Given the description of an element on the screen output the (x, y) to click on. 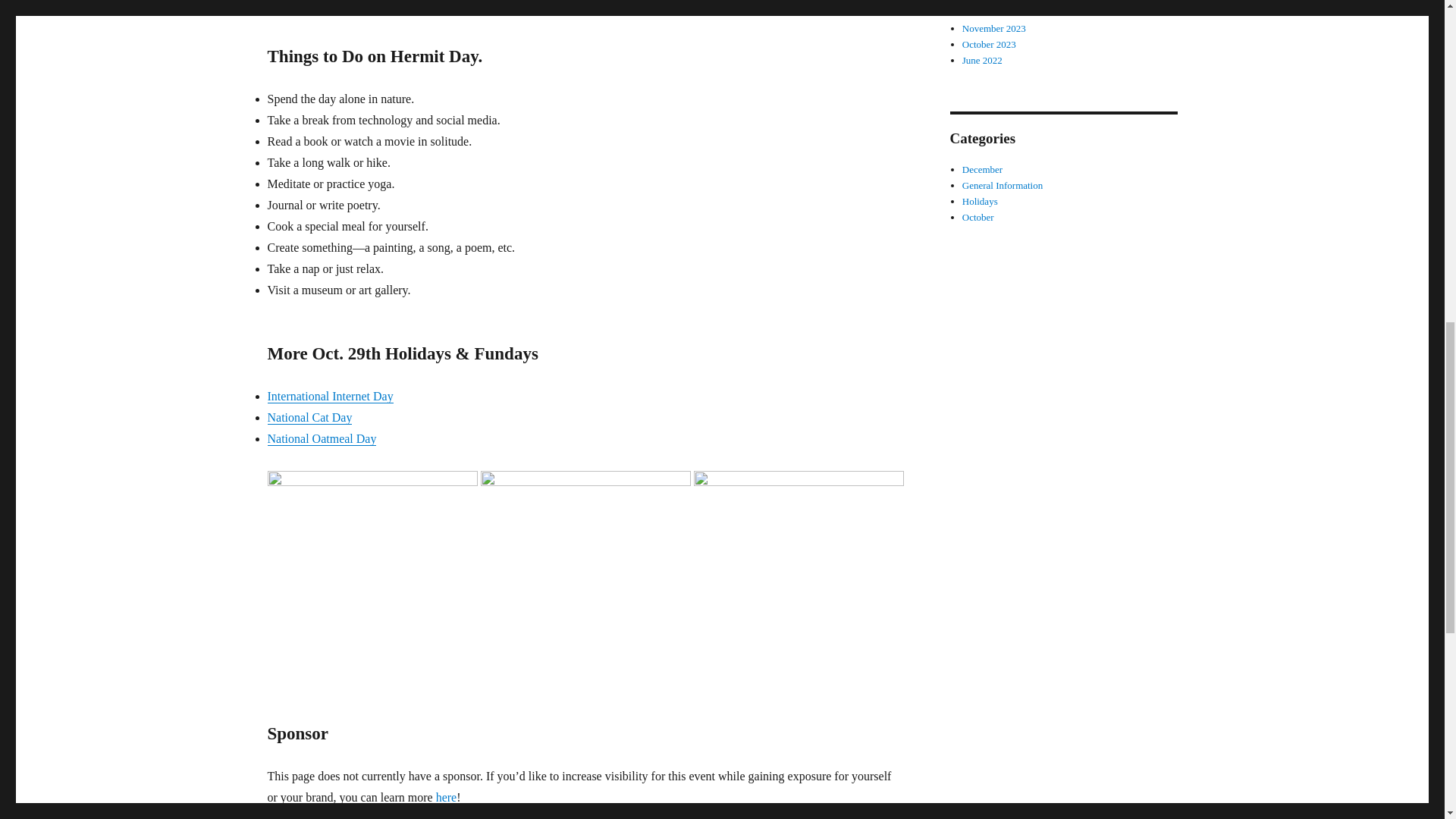
National Oatmeal Day (320, 438)
here (446, 797)
National Cat Day (309, 417)
International Internet Day (329, 395)
